Given the description of an element on the screen output the (x, y) to click on. 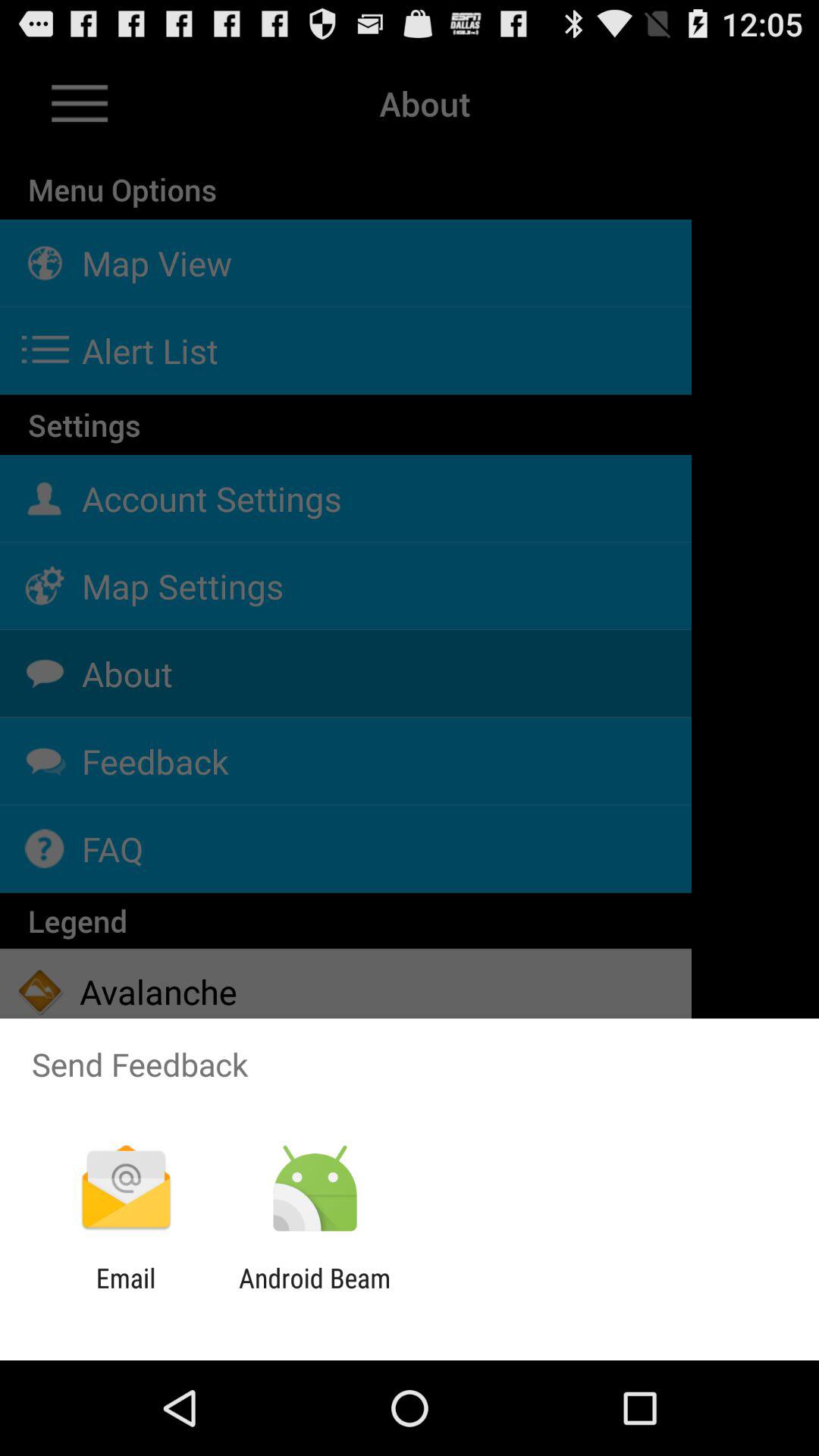
click the email (125, 1293)
